Given the description of an element on the screen output the (x, y) to click on. 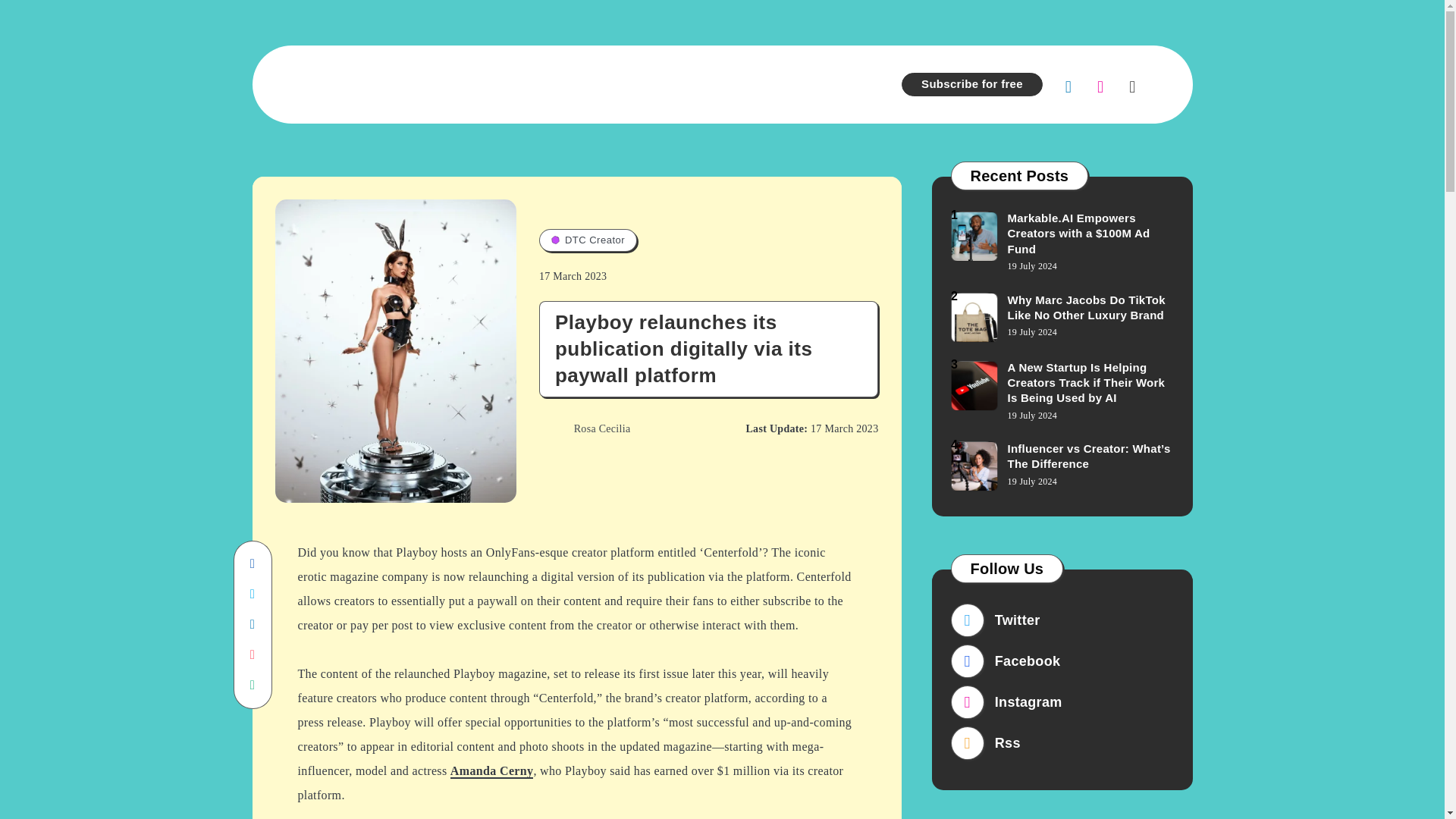
Amanda Cerny (491, 771)
DTC Creator (587, 240)
Web3 Creator (812, 83)
Creator Creator (713, 83)
AI Odyssey (535, 83)
Tech Creator (452, 83)
Rosa Cecilia (584, 428)
DTC Creator (619, 83)
Subscribe for free (971, 84)
Author: Rosa Cecilia (584, 428)
